Given the description of an element on the screen output the (x, y) to click on. 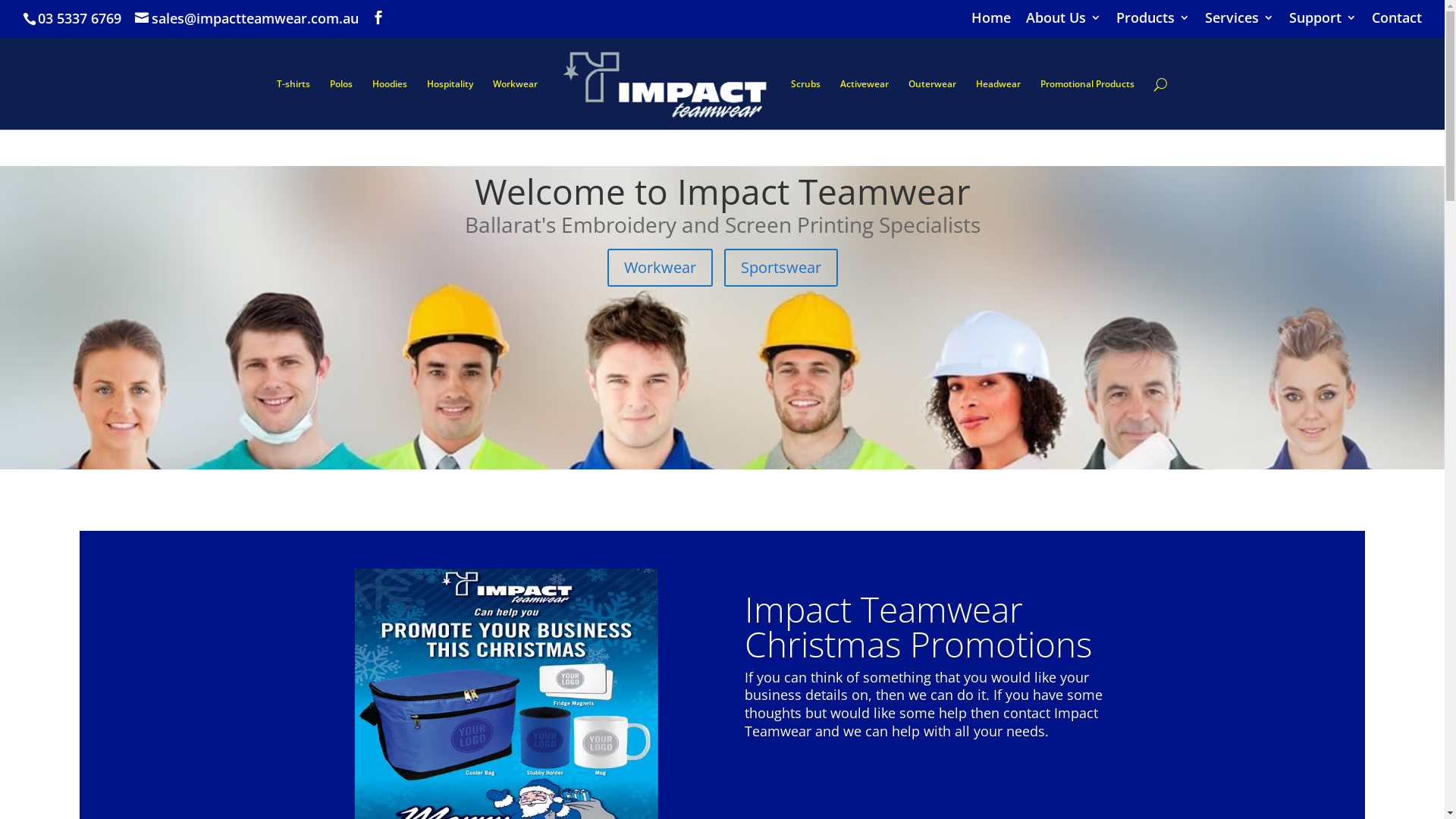
Products Element type: text (1152, 22)
Contact Element type: text (1396, 22)
Sportswear Element type: text (780, 267)
Hoodies Element type: text (389, 103)
Workwear Element type: text (659, 267)
Headwear Element type: text (997, 103)
T-shirts Element type: text (293, 103)
Home Element type: text (990, 22)
About Us Element type: text (1063, 22)
Polos Element type: text (340, 103)
Impact Teamwear Christmas Promotions Element type: text (918, 626)
Activewear Element type: text (864, 103)
Outerwear Element type: text (932, 103)
Services Element type: text (1239, 22)
Promotional Products Element type: text (1087, 103)
Scrubs Element type: text (805, 103)
Support Element type: text (1322, 22)
Hospitality Element type: text (449, 103)
sales@impactteamwear.com.au Element type: text (246, 18)
Workwear Element type: text (514, 103)
